Given the description of an element on the screen output the (x, y) to click on. 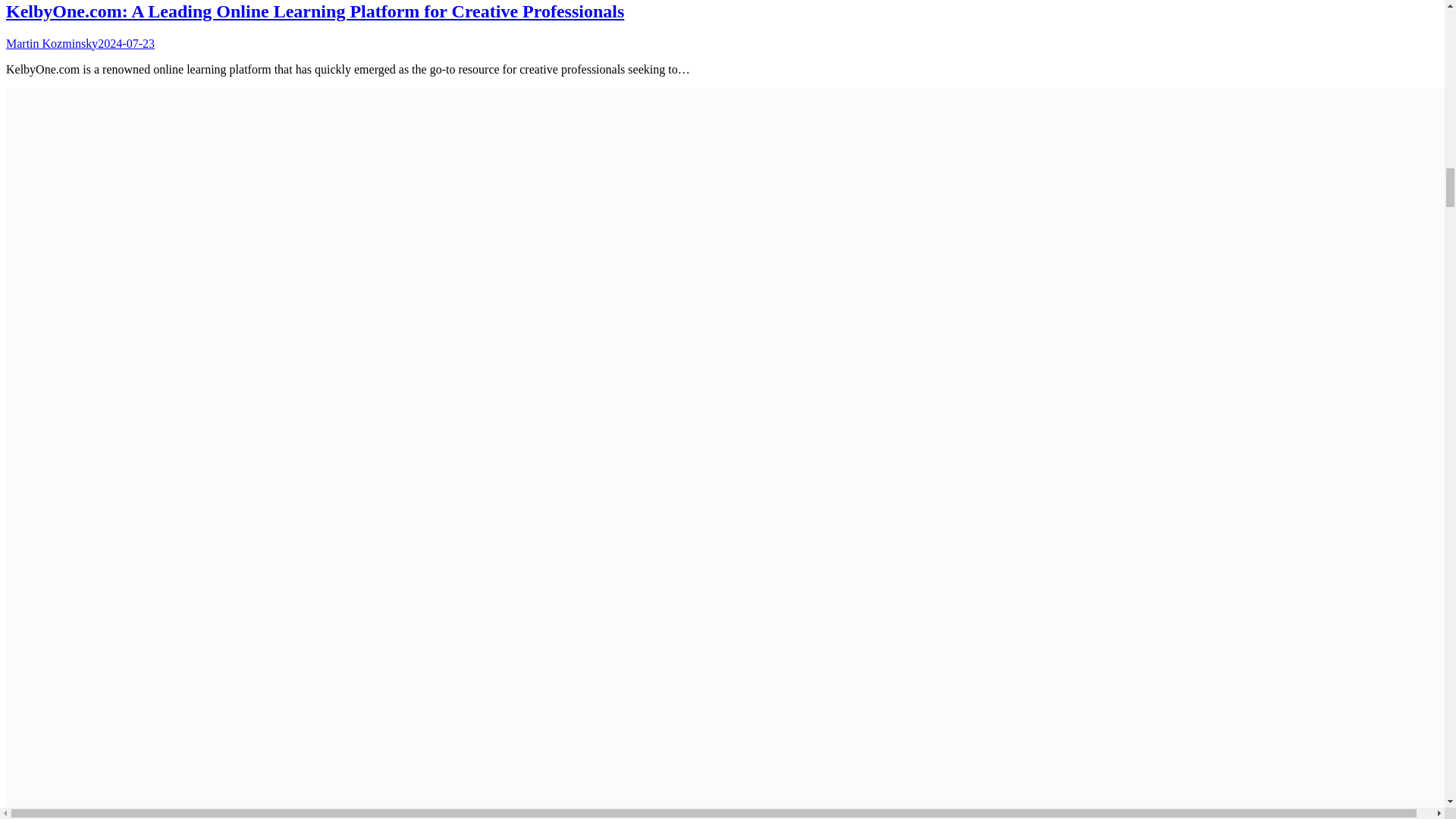
2024-07-23 (125, 42)
Martin Kozminsky (51, 42)
